Given the description of an element on the screen output the (x, y) to click on. 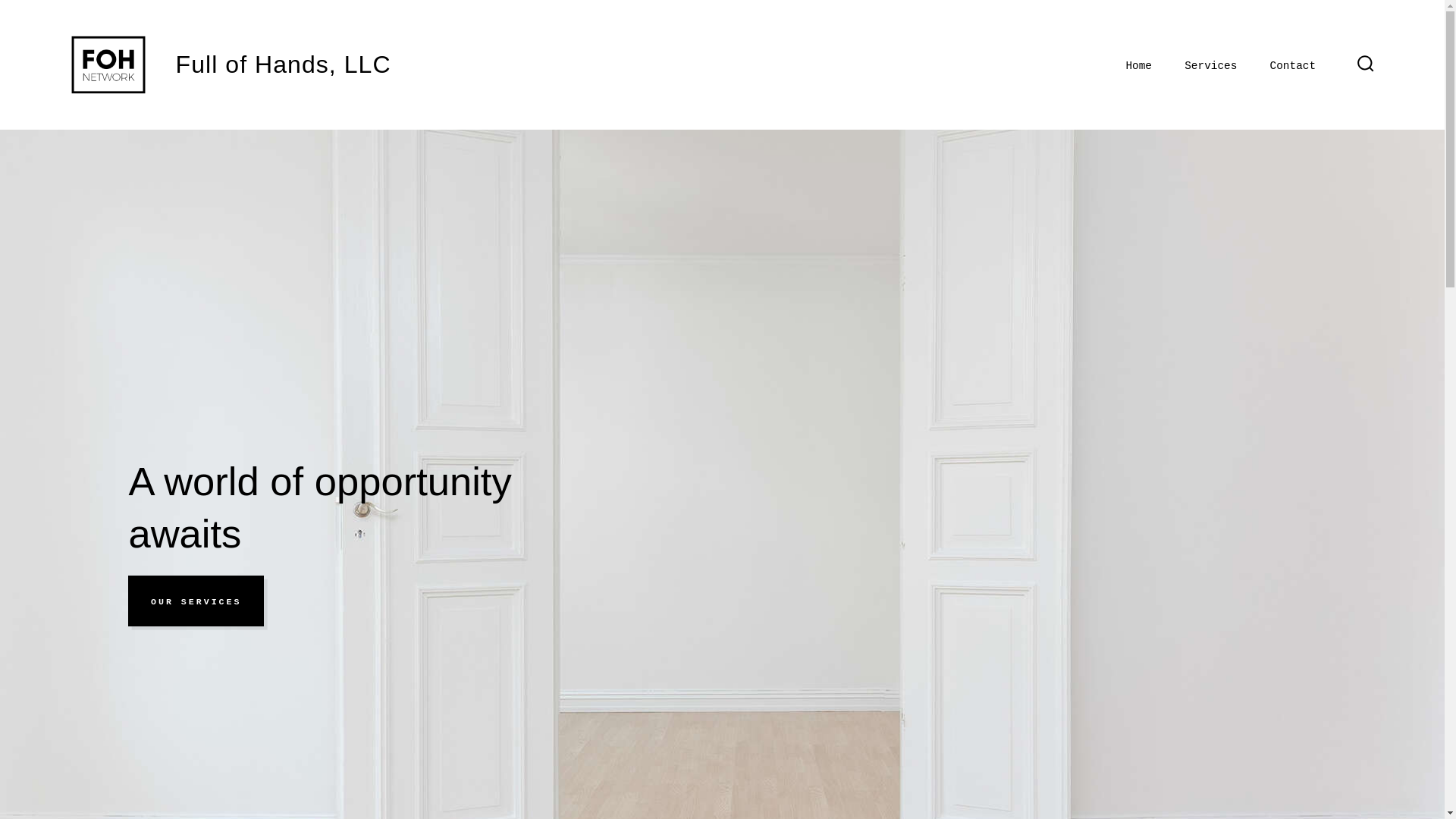
Full of Hands, LLC (268, 64)
Home (1138, 66)
SEARCH TOGGLE (1365, 63)
OUR SERVICES (195, 600)
Contact (1292, 66)
Services (1210, 66)
